Given the description of an element on the screen output the (x, y) to click on. 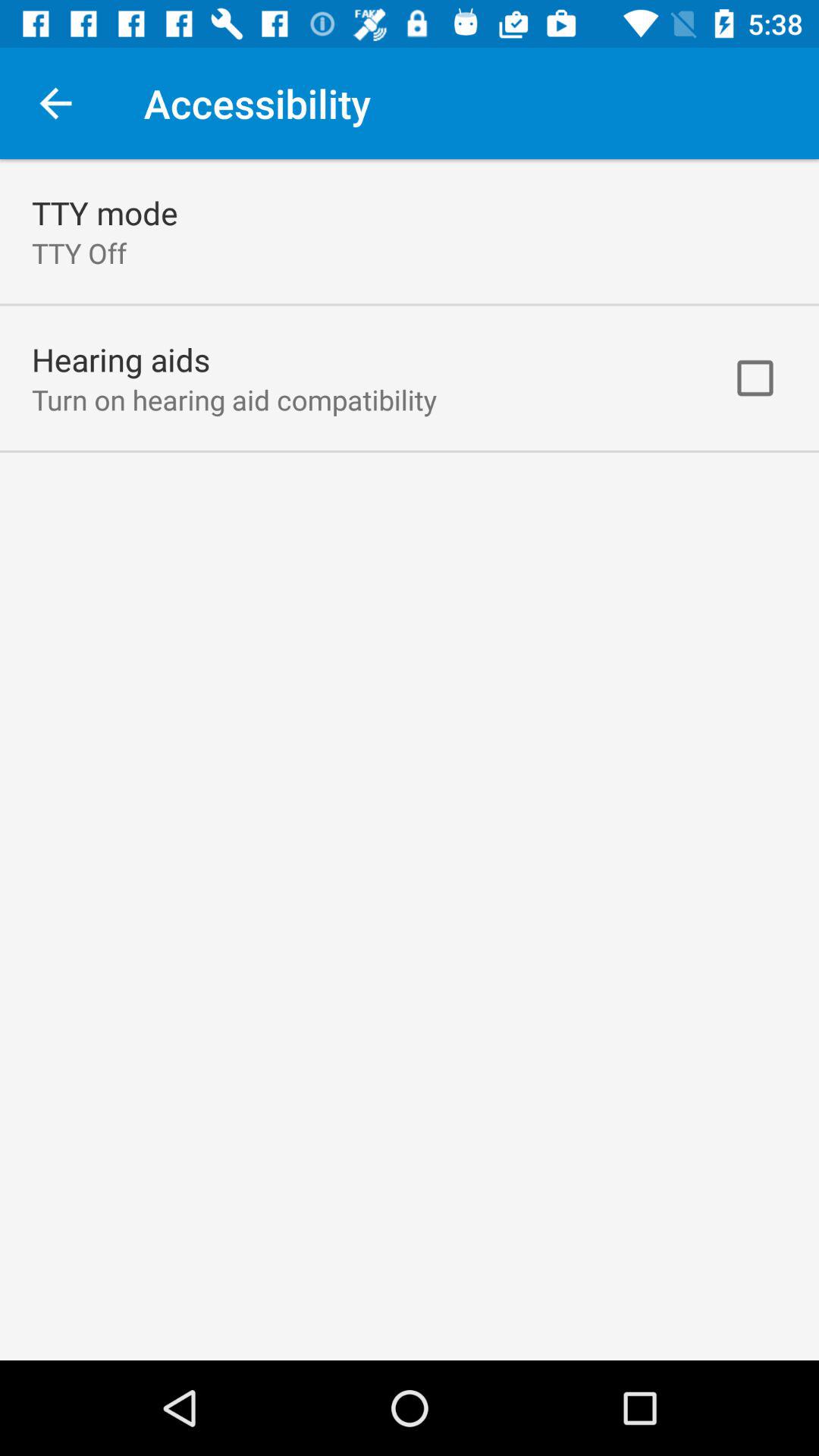
click the tty off item (78, 252)
